Given the description of an element on the screen output the (x, y) to click on. 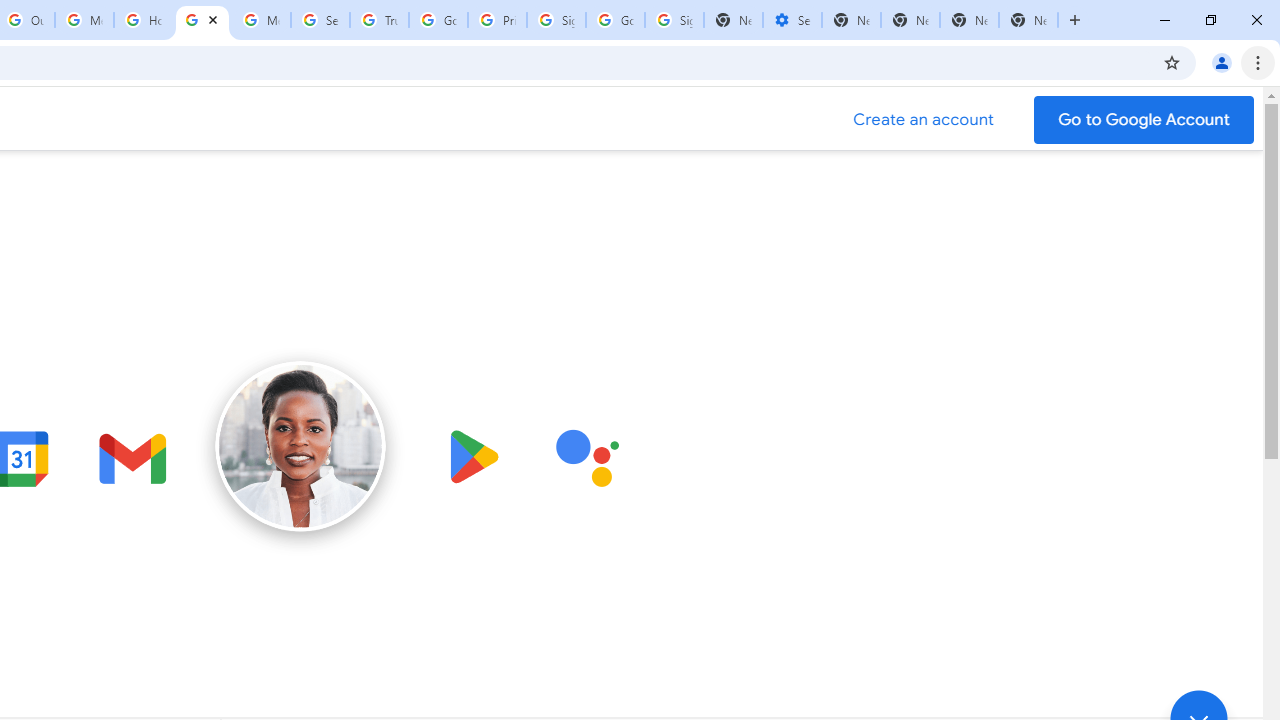
Google Cybersecurity Innovations - Google Safety Center (615, 20)
Go to your Google Account (1144, 119)
Sign in - Google Accounts (556, 20)
